Given the description of an element on the screen output the (x, y) to click on. 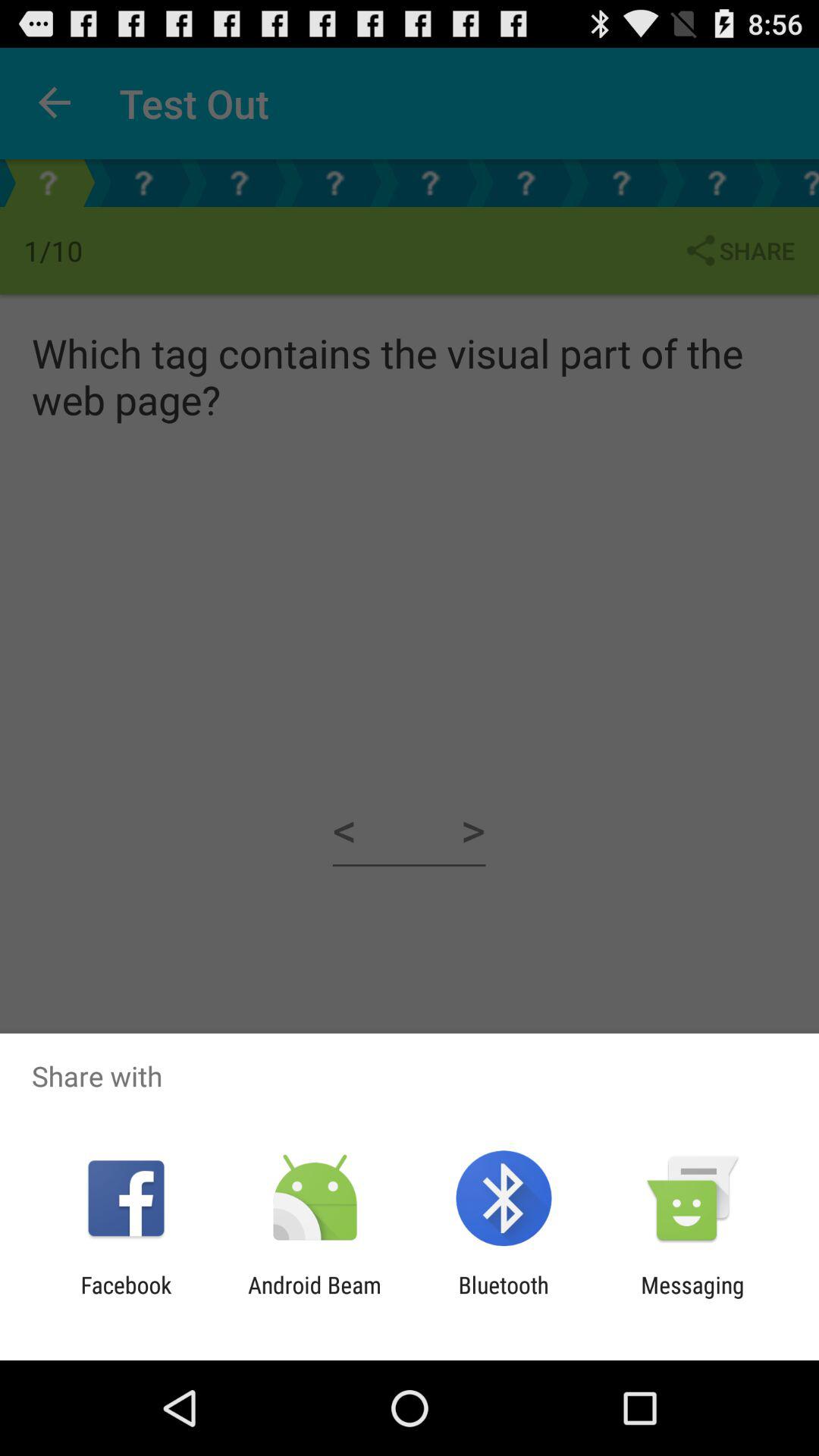
open app next to messaging icon (503, 1298)
